Given the description of an element on the screen output the (x, y) to click on. 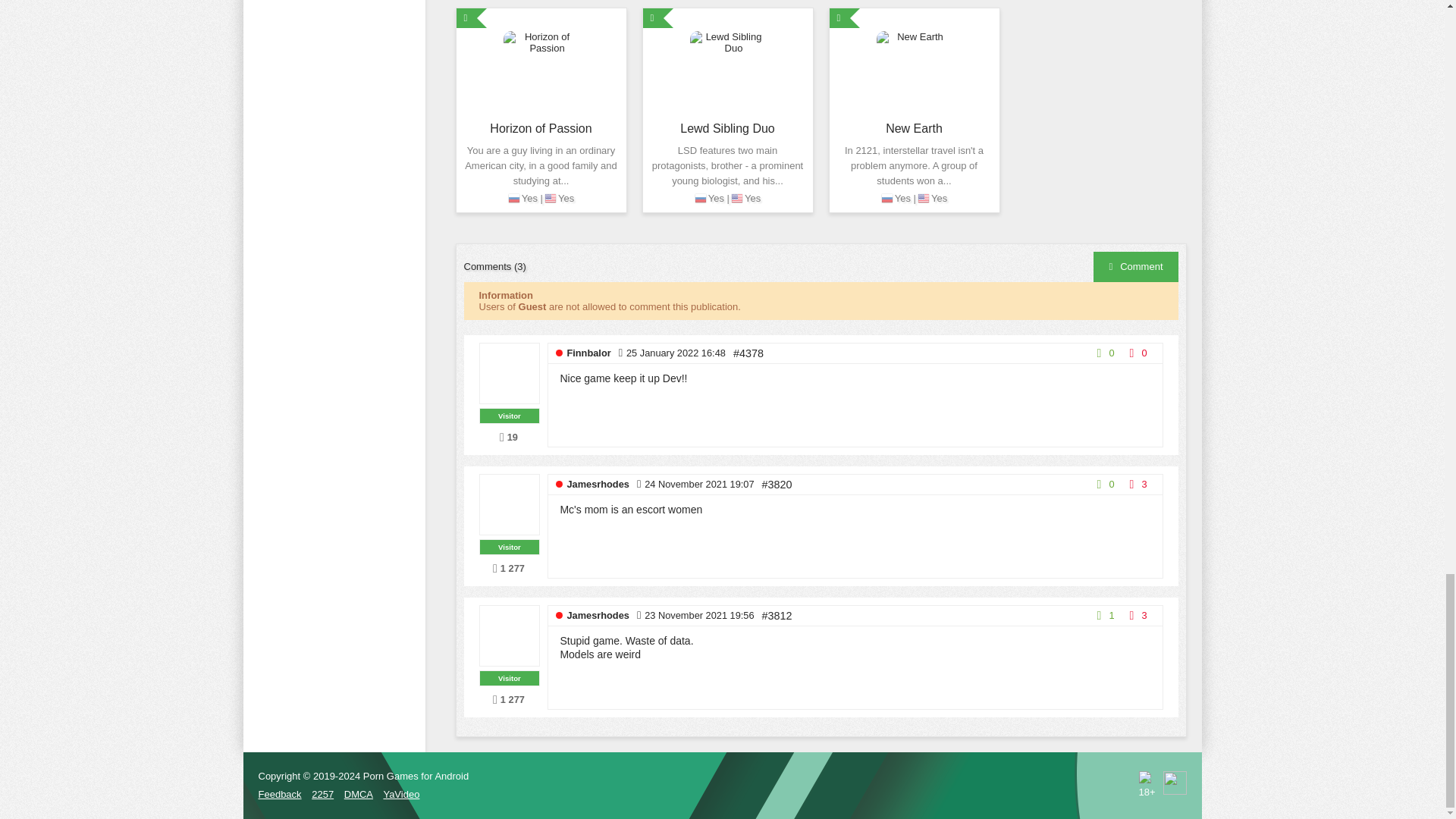
offline (559, 483)
offline (559, 352)
offline (559, 615)
LiveInternet (1174, 782)
